Given the description of an element on the screen output the (x, y) to click on. 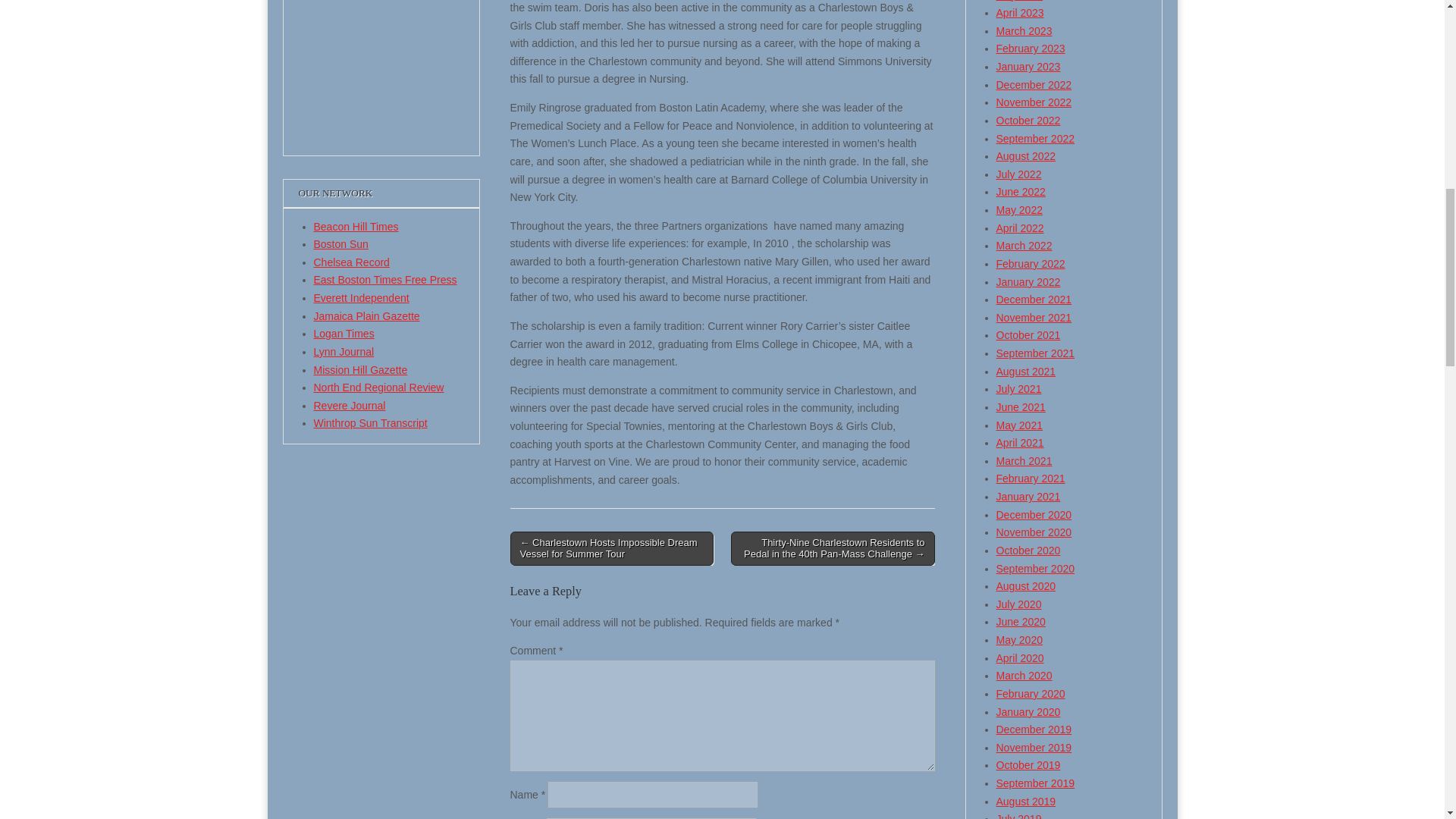
Beacon Hill Times (356, 226)
Revere Journal (349, 405)
Everett Independent (361, 297)
East Boston Times Free Press (385, 279)
Winthrop Sun Transcript (371, 422)
Lynn Journal (344, 351)
Boston Sun (341, 244)
Logan Times (344, 333)
Chelsea Record (352, 262)
North End Regional Review (379, 387)
Jamaica Plain Gazette (367, 316)
Mission Hill Gazette (360, 369)
